Given the description of an element on the screen output the (x, y) to click on. 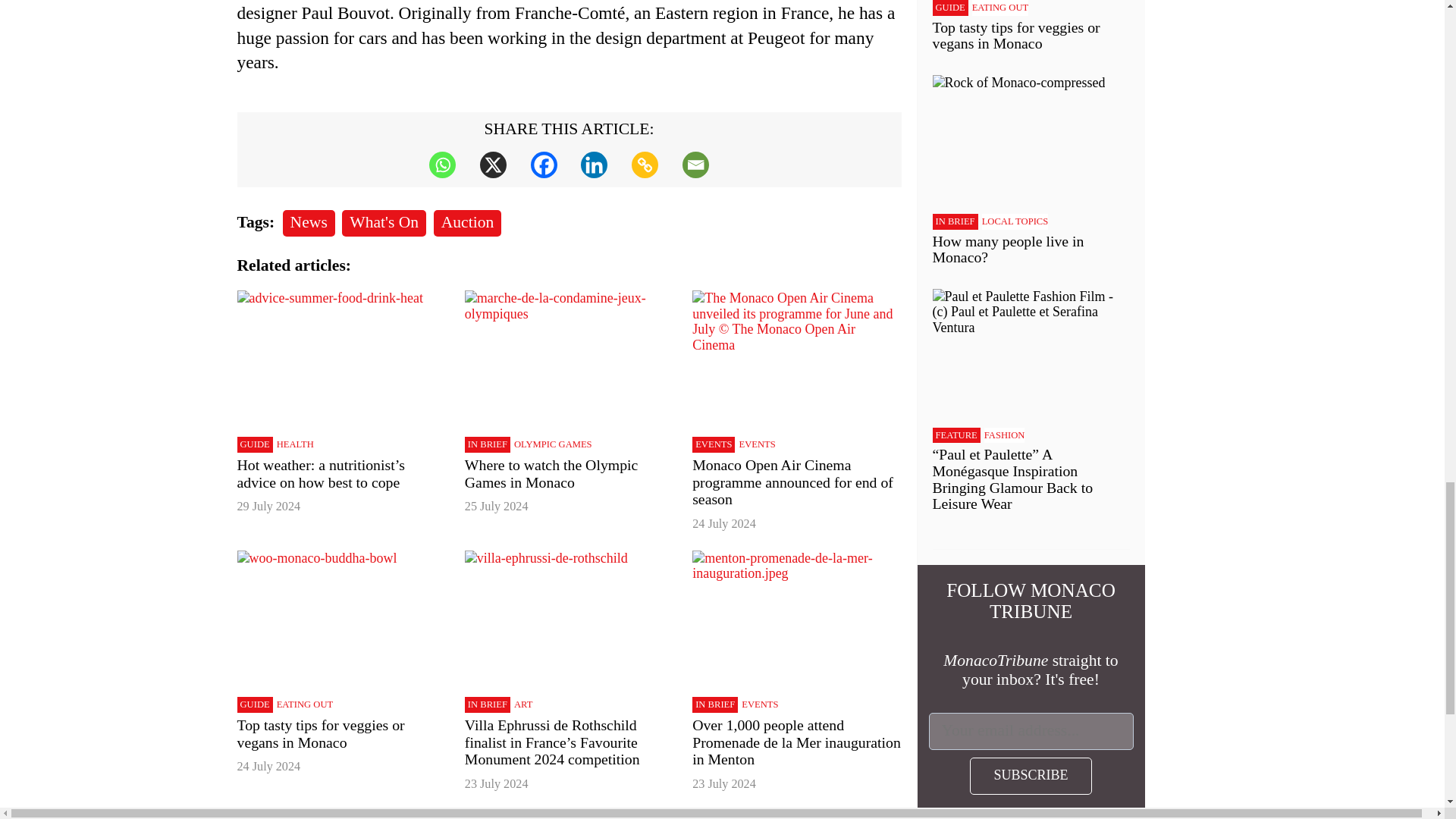
Subscribe (1029, 775)
